Given the description of an element on the screen output the (x, y) to click on. 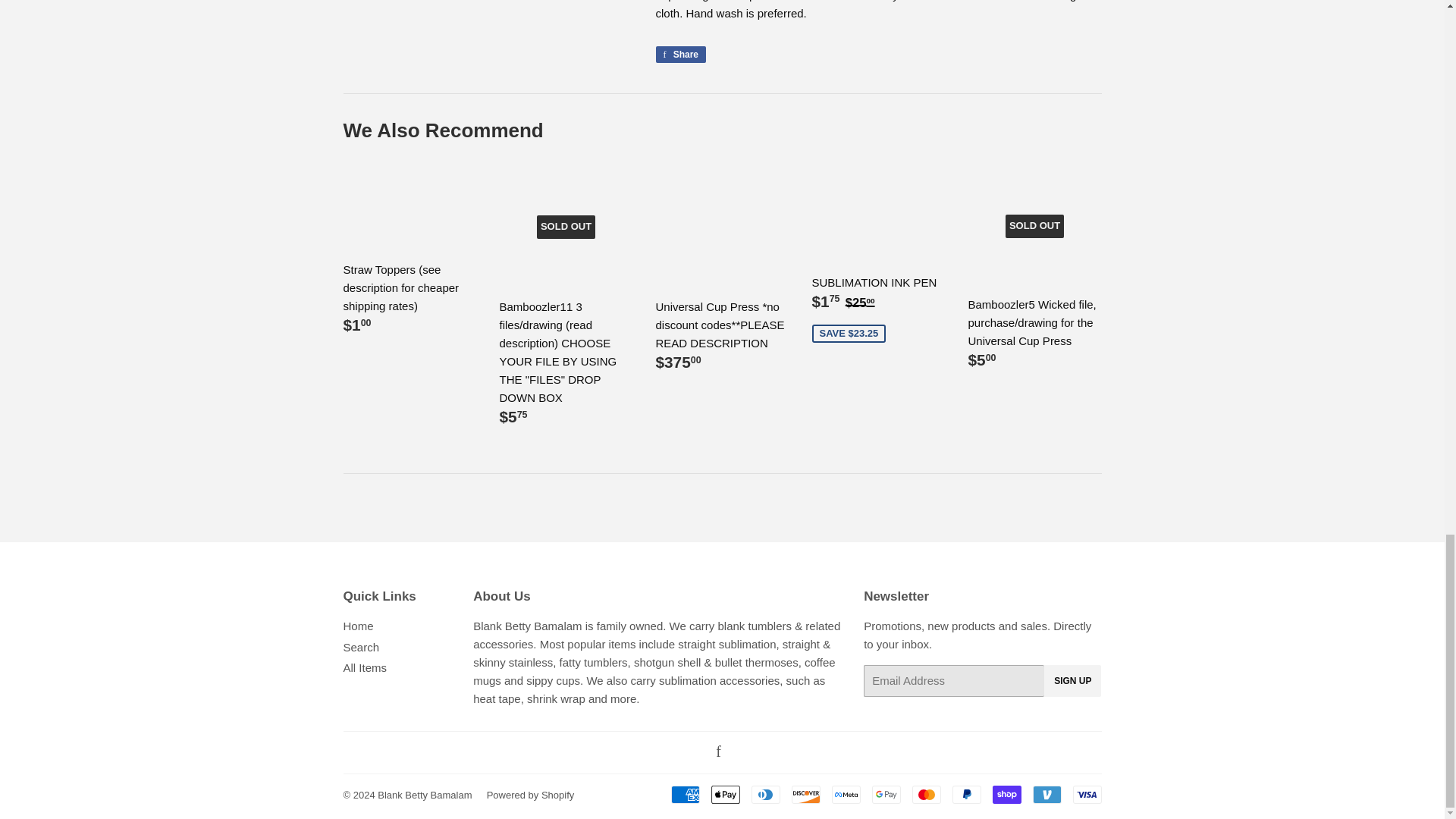
Venmo (1046, 794)
Shop Pay (1005, 794)
Share on Facebook (680, 54)
Google Pay (886, 794)
American Express (683, 794)
Diners Club (764, 794)
Mastercard (925, 794)
Discover (806, 794)
Meta Pay (845, 794)
Apple Pay (725, 794)
Visa (1085, 794)
PayPal (966, 794)
